Given the description of an element on the screen output the (x, y) to click on. 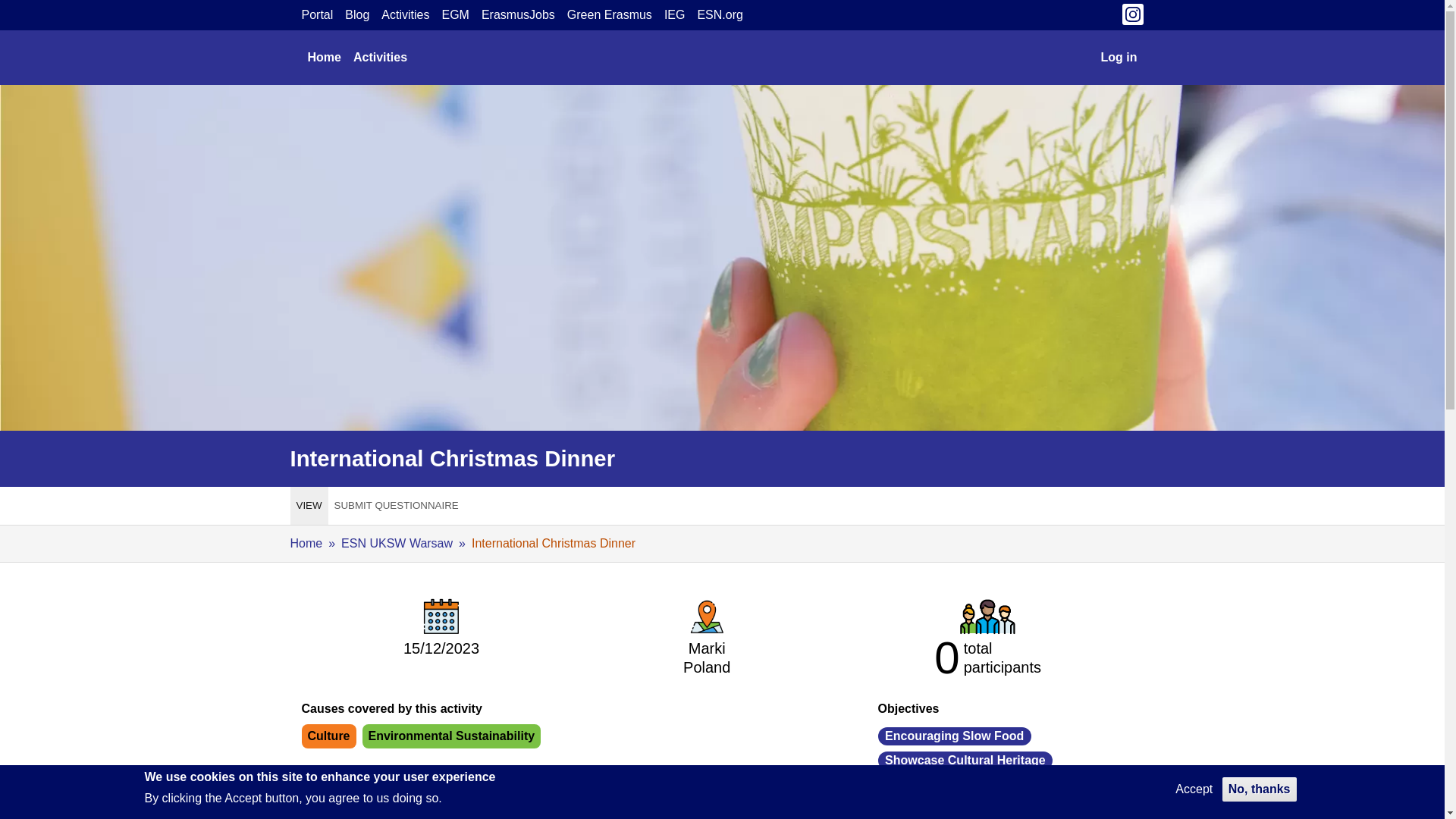
Home (324, 57)
Instagram (1132, 18)
ESN UKSW Warsaw (933, 814)
SUBMIT QUESTIONNAIRE (396, 505)
ESN.org (719, 15)
EGM (454, 15)
ErasmusJobs (517, 15)
Responsible party (496, 799)
Portal (317, 15)
Environmental Sustainability (451, 735)
